Given the description of an element on the screen output the (x, y) to click on. 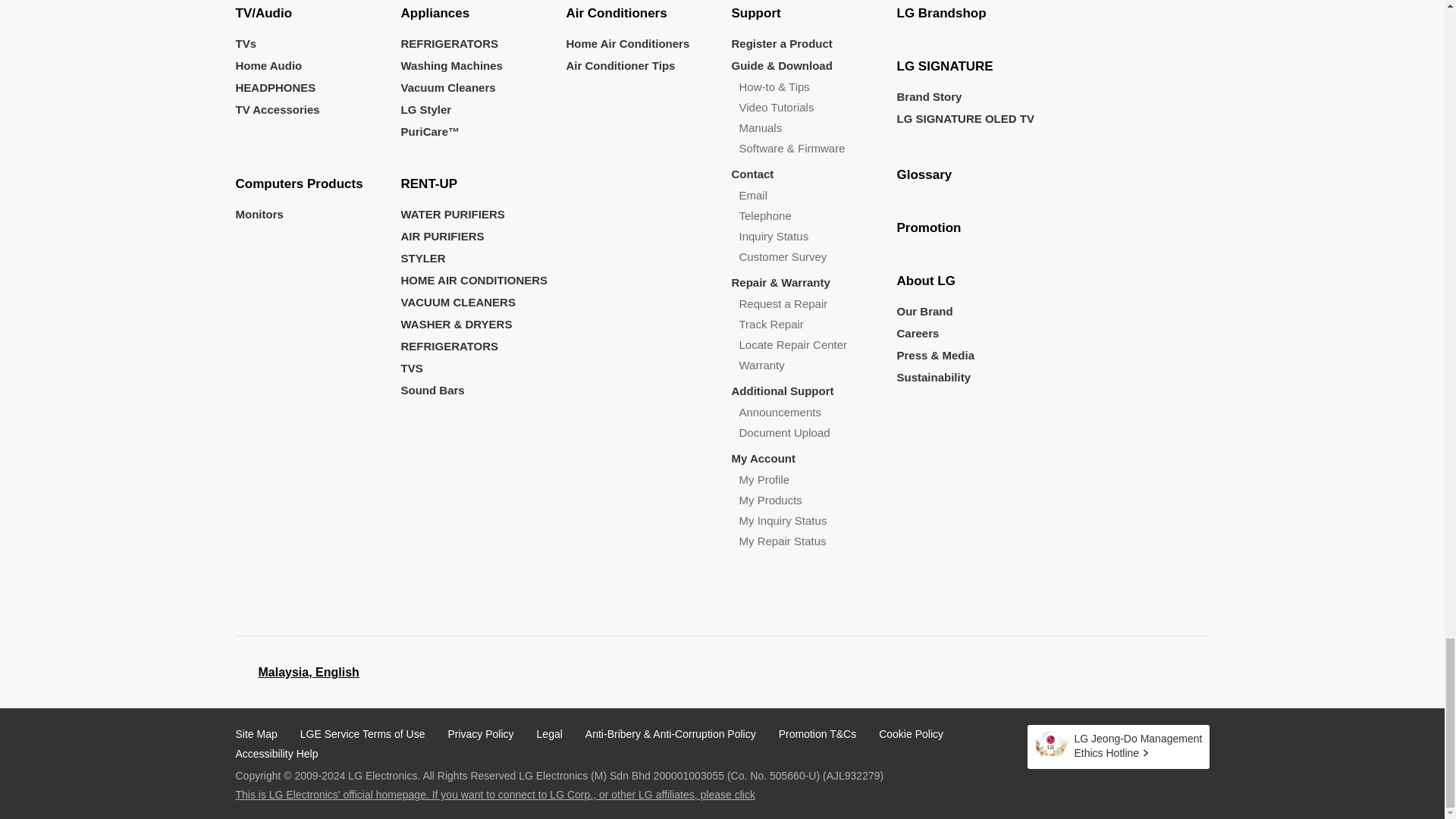
Opens in a new window (1163, 672)
Opens in a new window (1097, 672)
Opens in a new window (296, 670)
Opens in a new window (1117, 746)
Opens in a new window (1195, 672)
Opens in a new window (1131, 672)
Opens in a new window (626, 794)
Opens in a new window (307, 671)
